Given the description of an element on the screen output the (x, y) to click on. 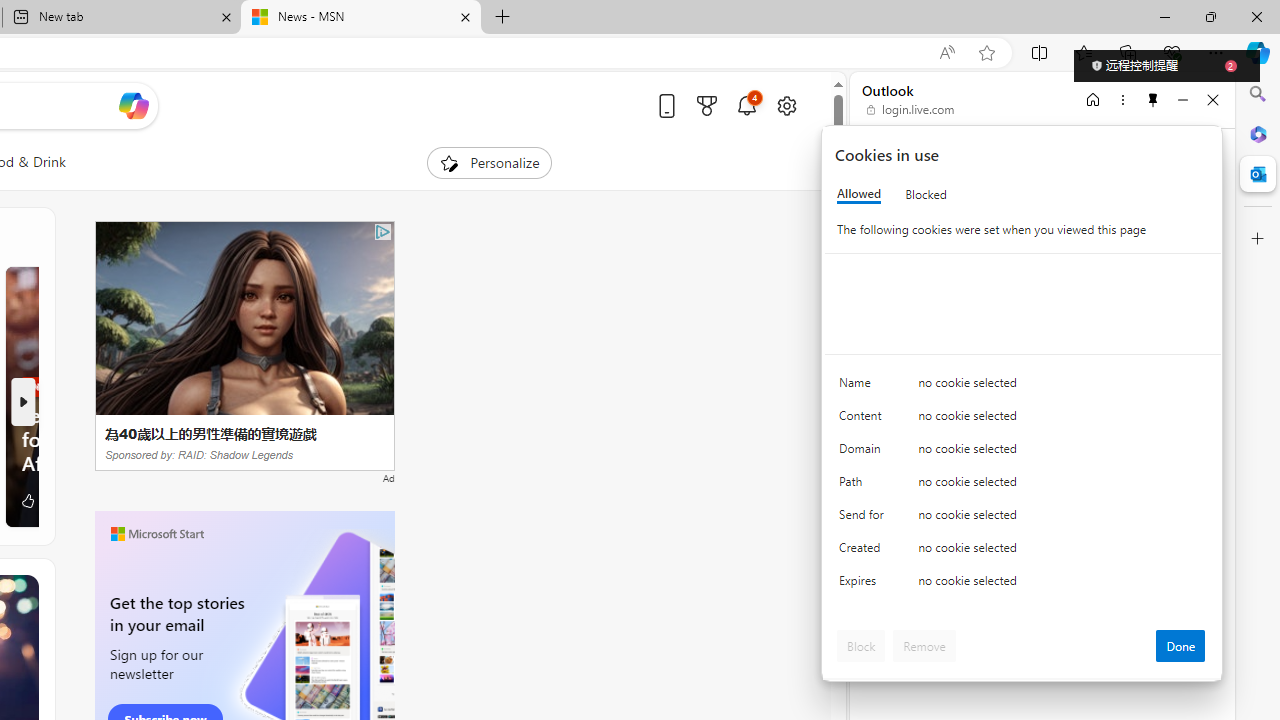
Created (864, 552)
Class: creative__ad-choice_image (383, 231)
Allowed (859, 193)
Content (864, 420)
News - MSN (360, 17)
Block (861, 645)
